Given the description of an element on the screen output the (x, y) to click on. 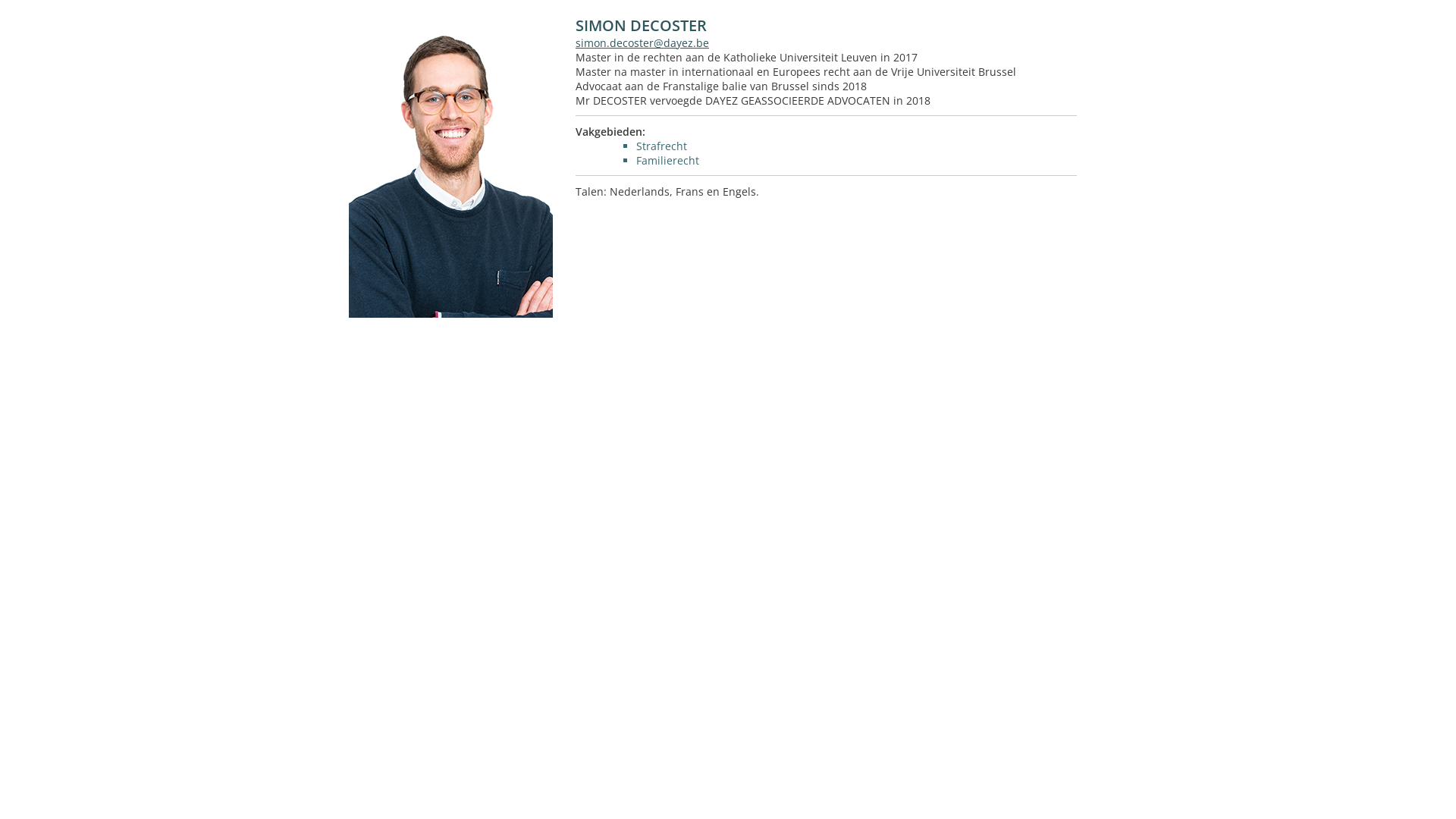
simon.decoster@dayez.be Element type: text (642, 42)
